Given the description of an element on the screen output the (x, y) to click on. 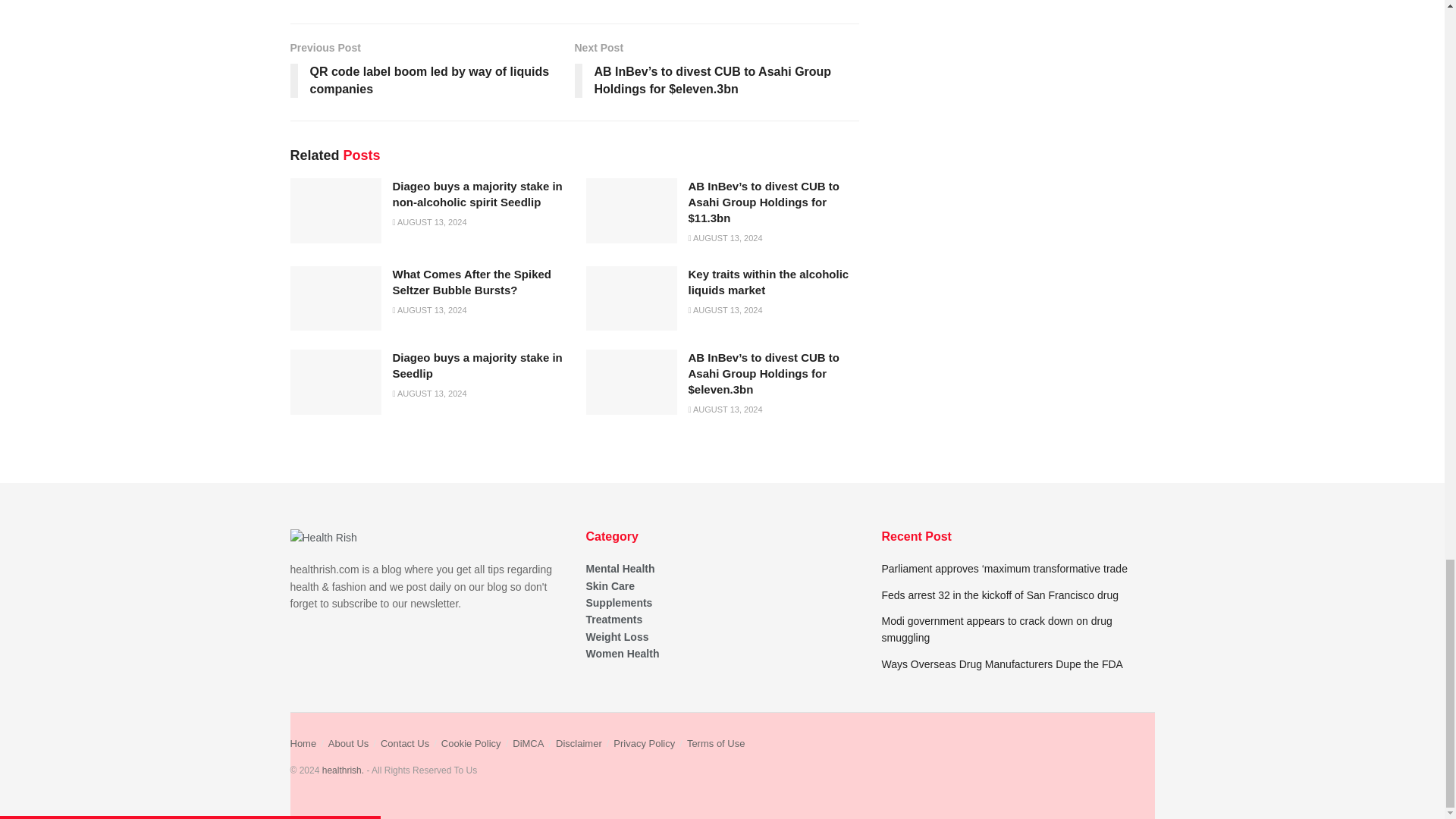
Key traits within the alcoholic liquids market 5 (631, 298)
healthrish. (342, 769)
What Comes After the Spiked Seltzer Bubble Bursts? 4 (334, 298)
Diageo buys a majority stake in Seedlip 6 (334, 381)
